Given the description of an element on the screen output the (x, y) to click on. 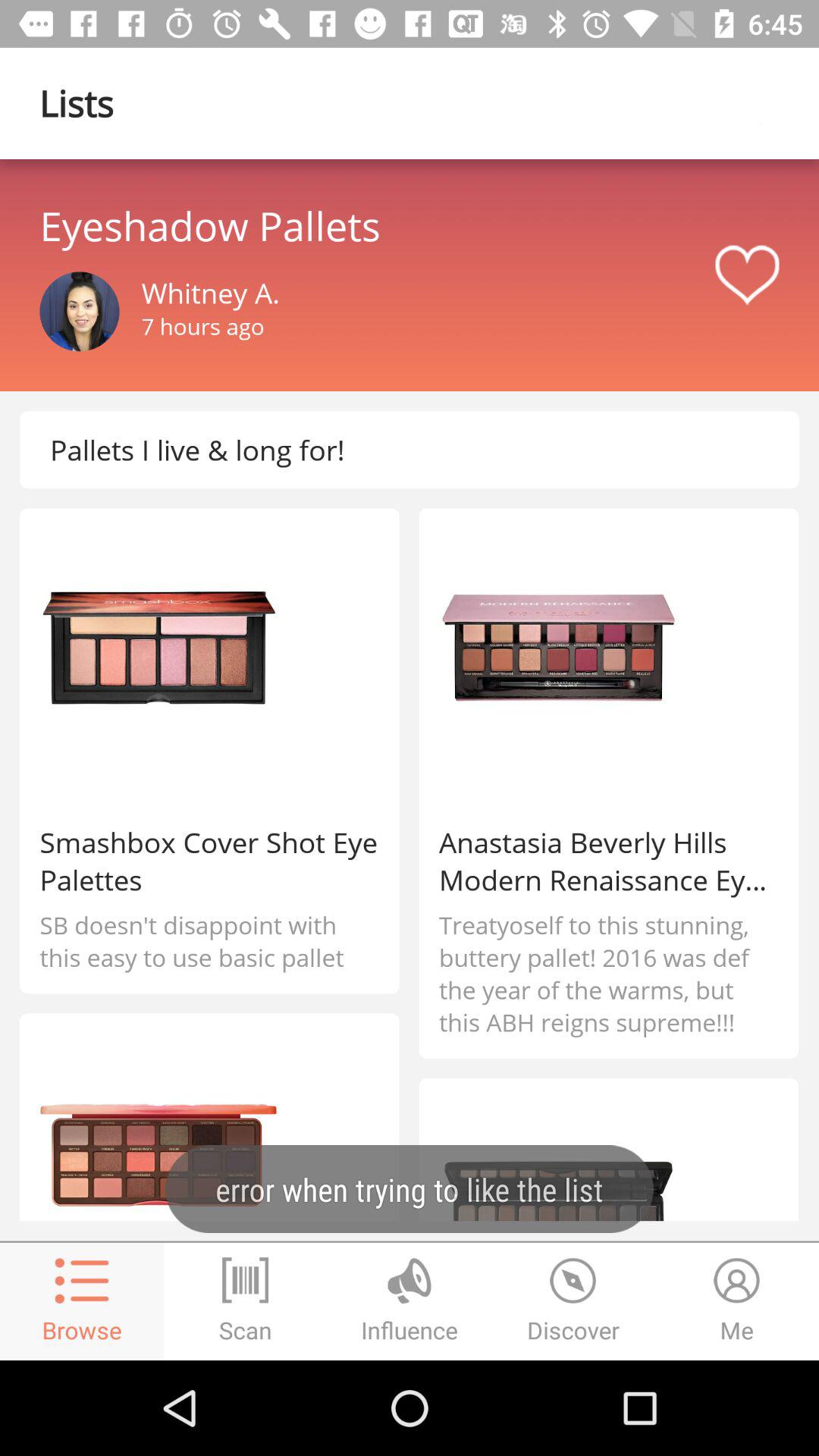
profile image (79, 311)
